Given the description of an element on the screen output the (x, y) to click on. 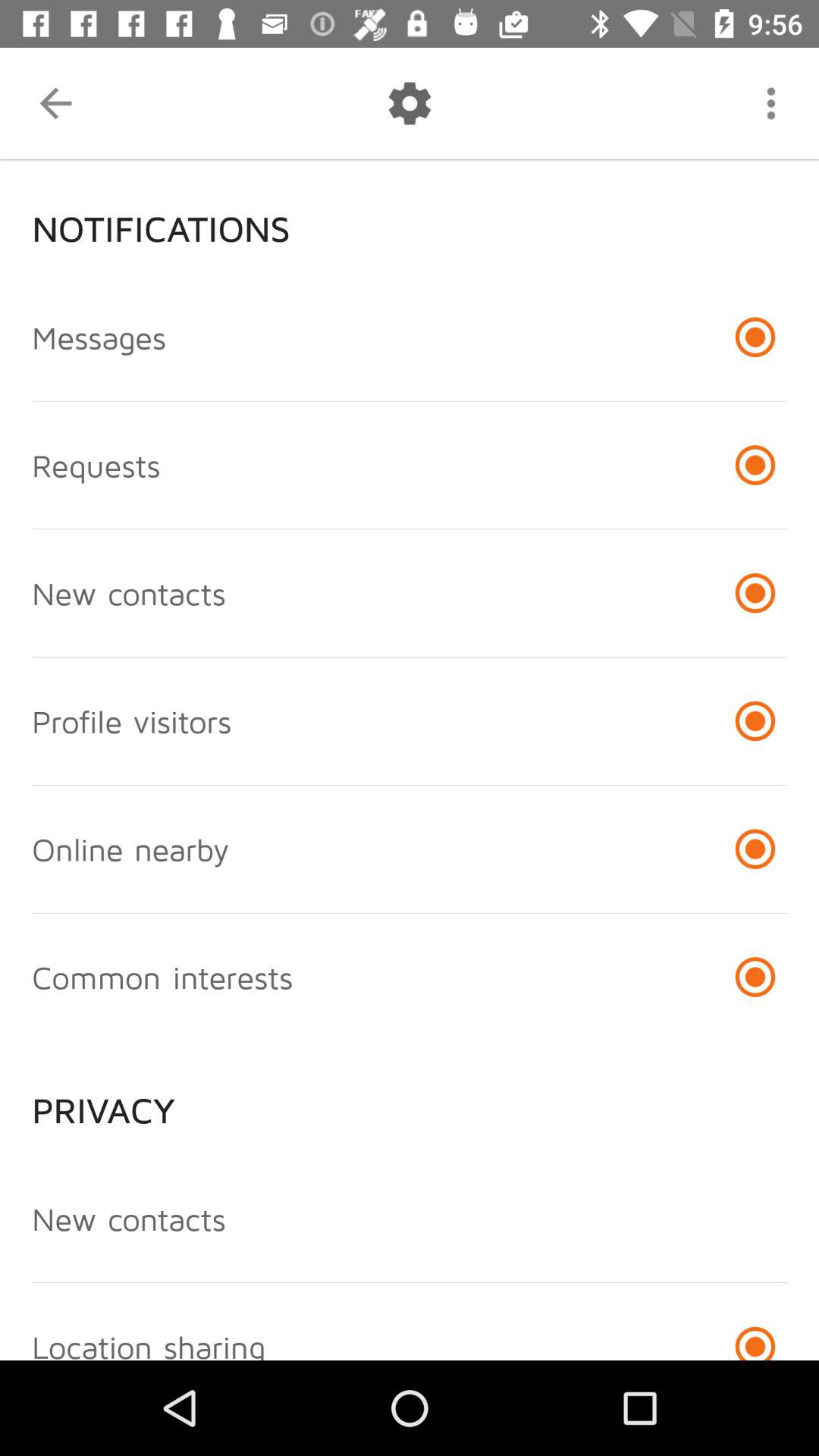
flip to common interests item (161, 976)
